Given the description of an element on the screen output the (x, y) to click on. 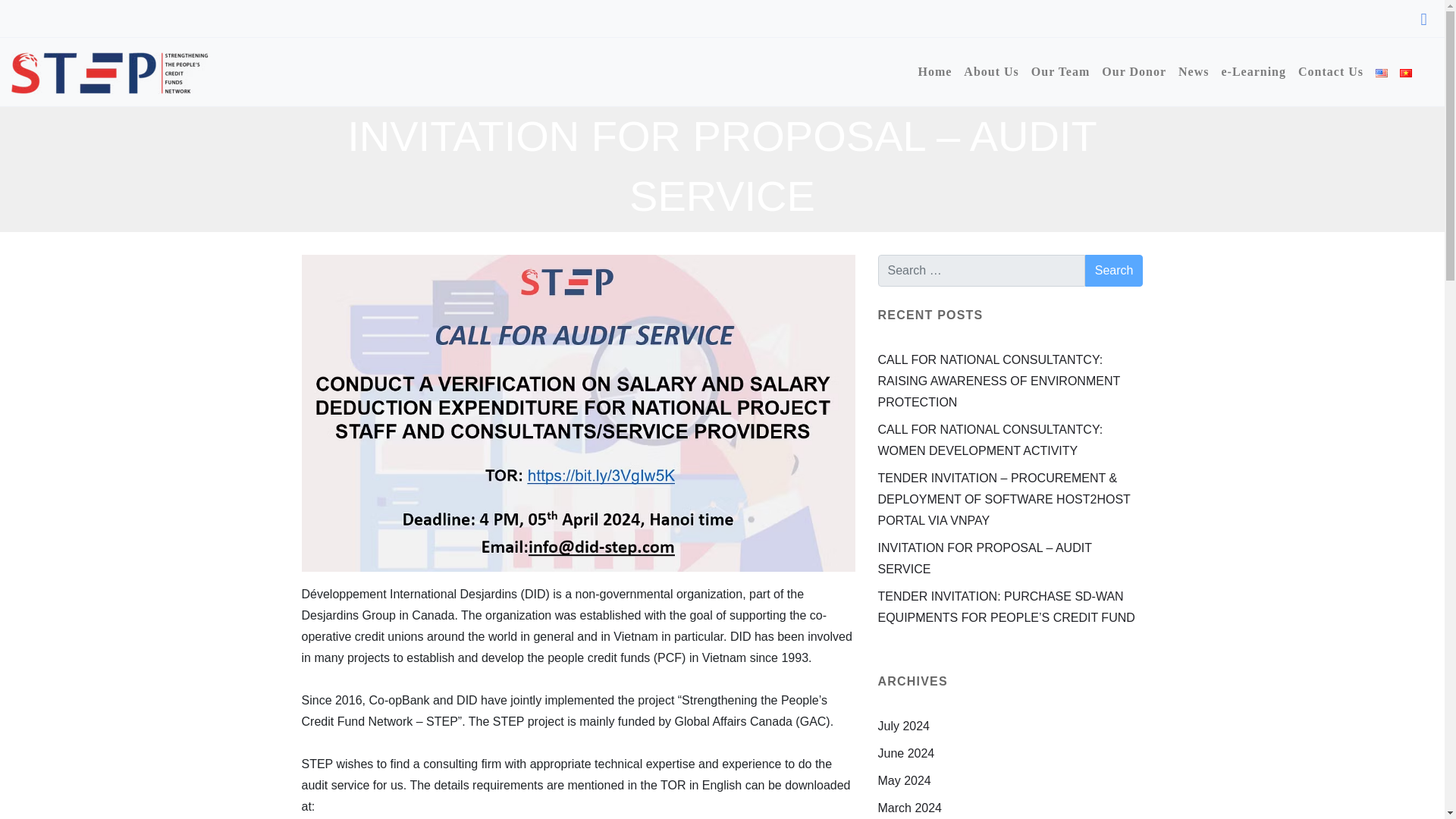
About Us (991, 71)
Search (1113, 270)
Facebook (1422, 18)
Contact Us (1331, 71)
Home (934, 71)
e-Learning (1253, 71)
March 2024 (909, 807)
Our Team (1060, 71)
CALL FOR NATIONAL CONSULTANTCY: WOMEN DEVELOPMENT ACTIVITY (990, 440)
Contact Us (1331, 71)
Our Team (1060, 71)
STEP (109, 71)
May 2024 (904, 780)
News (1193, 71)
July 2024 (903, 725)
